Given the description of an element on the screen output the (x, y) to click on. 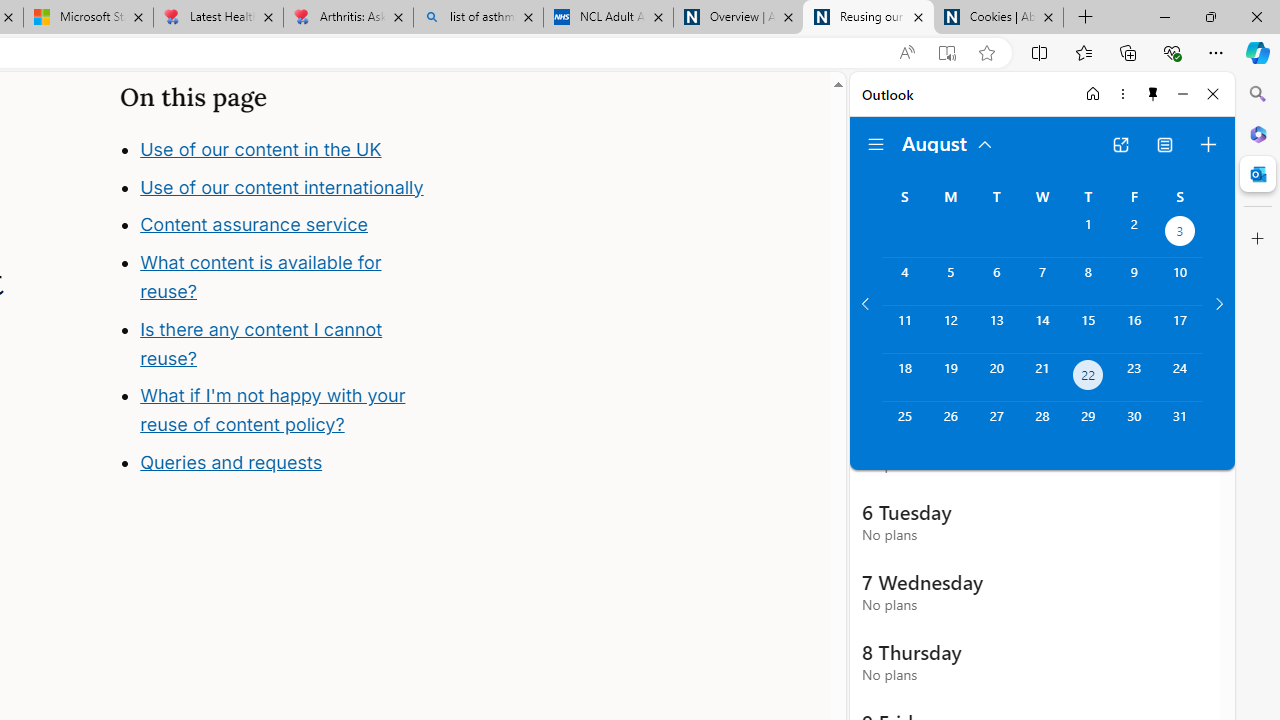
View Switcher. Current view is Agenda view (1165, 144)
Monday, August 12, 2024.  (950, 329)
Friday, August 30, 2024.  (1134, 425)
Thursday, August 22, 2024. Today.  (1088, 377)
Sunday, August 18, 2024.  (904, 377)
NCL Adult Asthma Inhaler Choice Guideline (608, 17)
Saturday, August 24, 2024.  (1180, 377)
Friday, August 16, 2024.  (1134, 329)
